Given the description of an element on the screen output the (x, y) to click on. 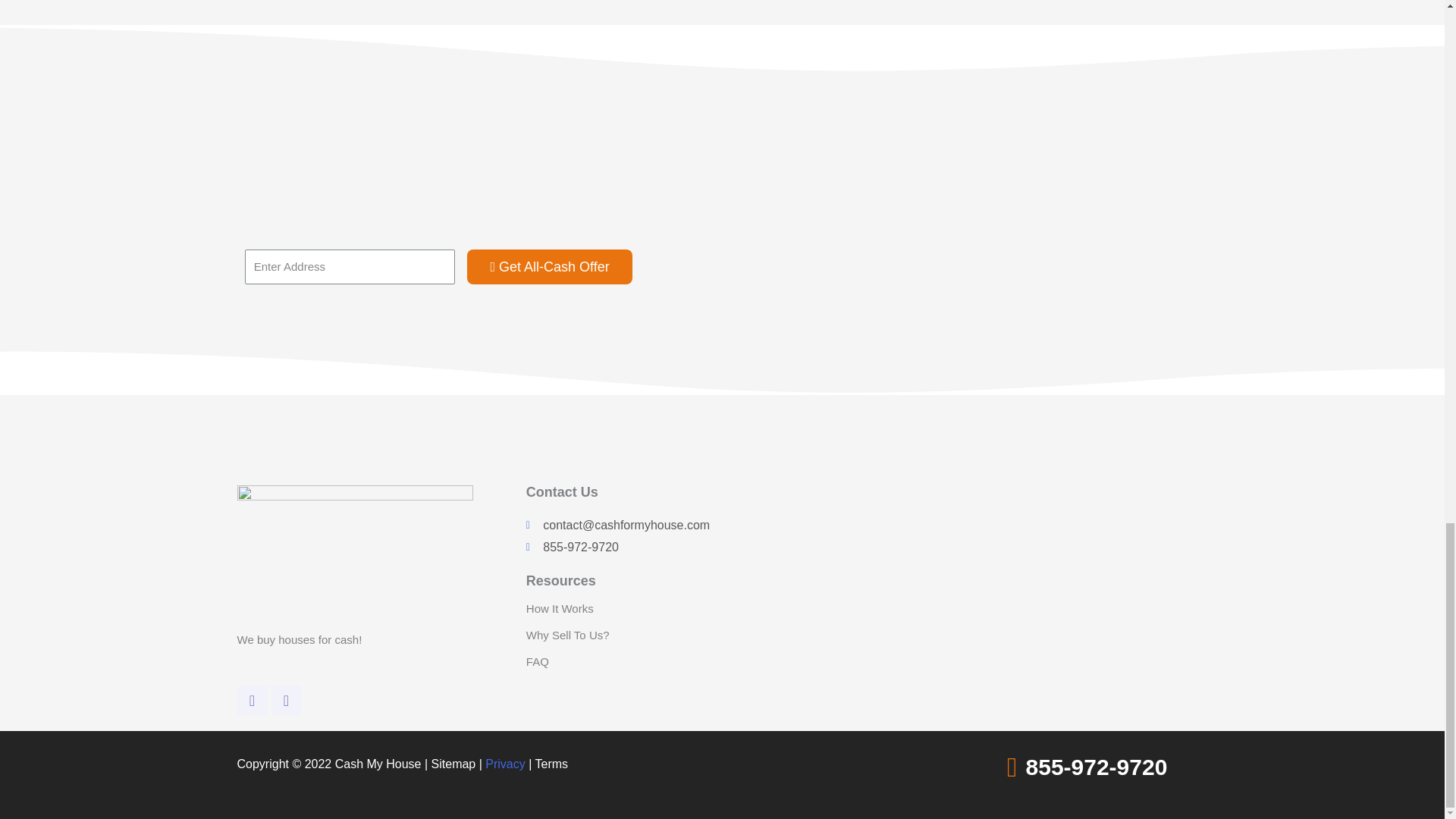
Get All-Cash Offer (549, 266)
Privacy (504, 763)
855-972-9720 (631, 547)
Contact Us (561, 491)
Why Sell To Us? (567, 634)
FAQ (536, 661)
How It Works (559, 608)
855-972-9720 (1096, 766)
